Given the description of an element on the screen output the (x, y) to click on. 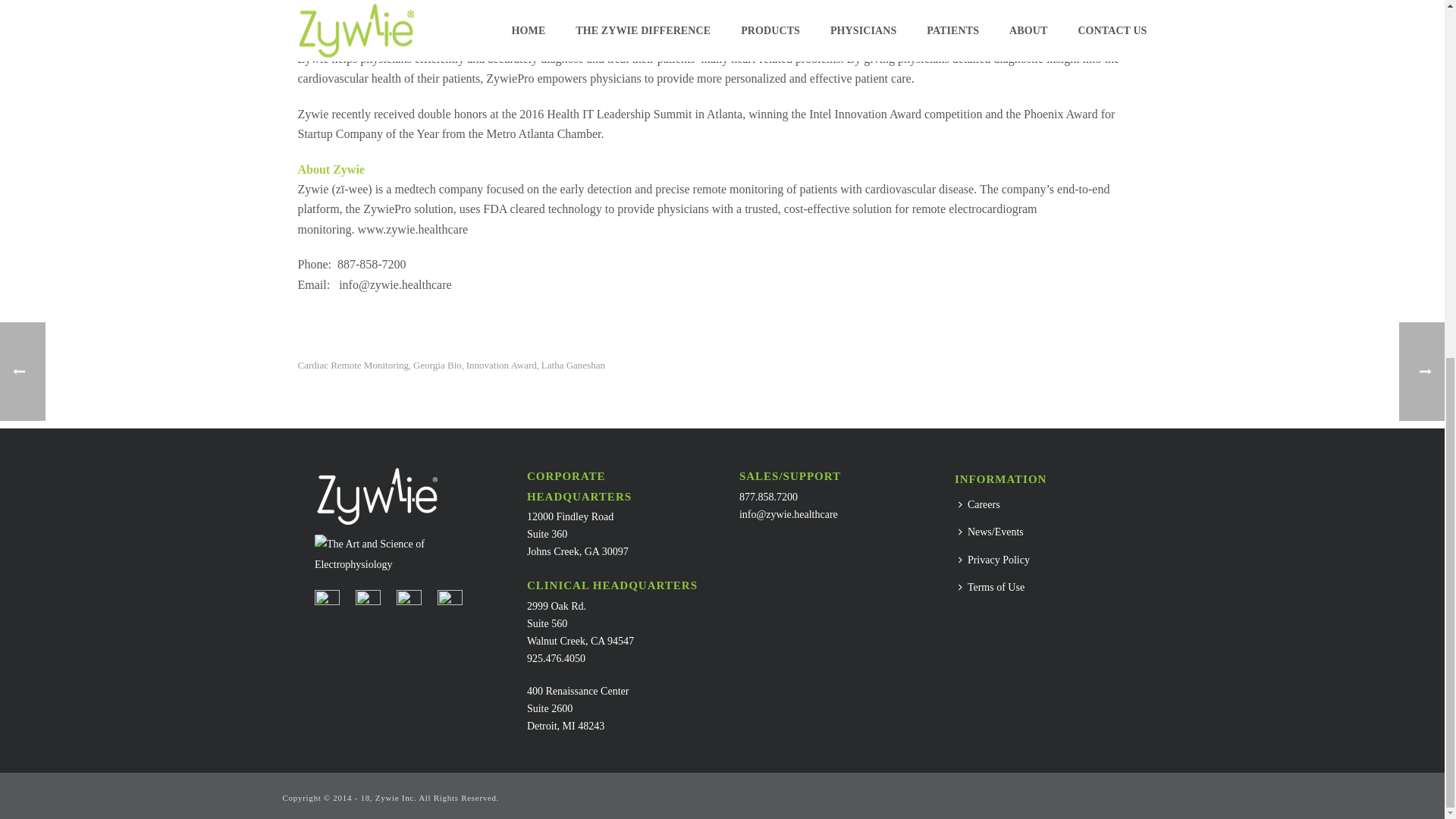
Innovation Award (501, 365)
www.zywie.healthcare (413, 228)
610,000 people (368, 4)
Cardiac Remote Monitoring (353, 365)
www.zywie.healthcare (413, 228)
Georgia Bio (437, 365)
